Given the description of an element on the screen output the (x, y) to click on. 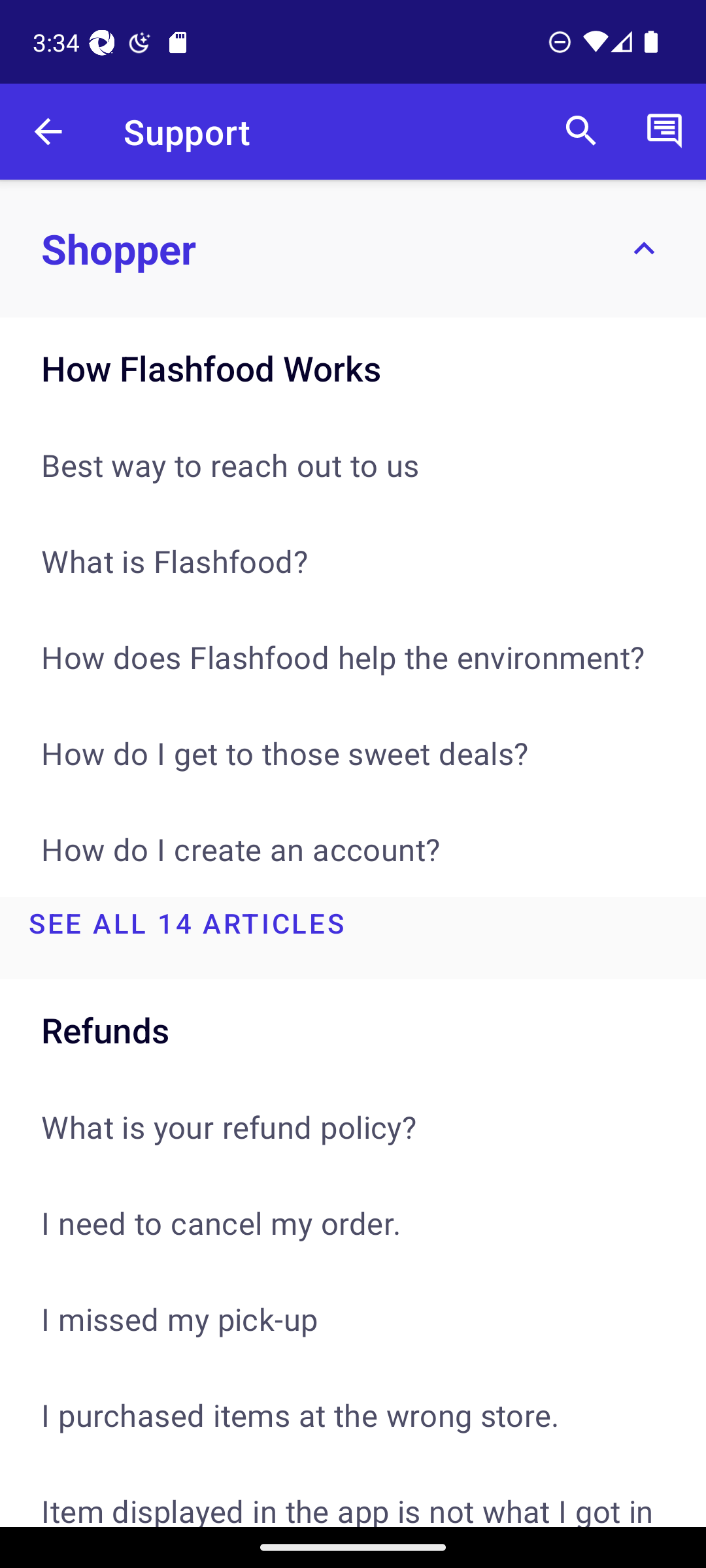
Navigate up (48, 131)
Search (581, 131)
Conversations (664, 131)
Shopper (353, 248)
Best way to reach out to us  (353, 464)
What is Flashfood? (353, 560)
How does Flashfood help the environment?  (353, 656)
How do I get to those sweet deals? (353, 753)
How do I create an account? (353, 848)
SEE ALL 14 ARTICLES (353, 938)
What is your refund policy? (353, 1126)
I need to cancel my order. (353, 1222)
I missed my pick-up  (353, 1318)
I purchased items at the wrong store. (353, 1414)
